Given the description of an element on the screen output the (x, y) to click on. 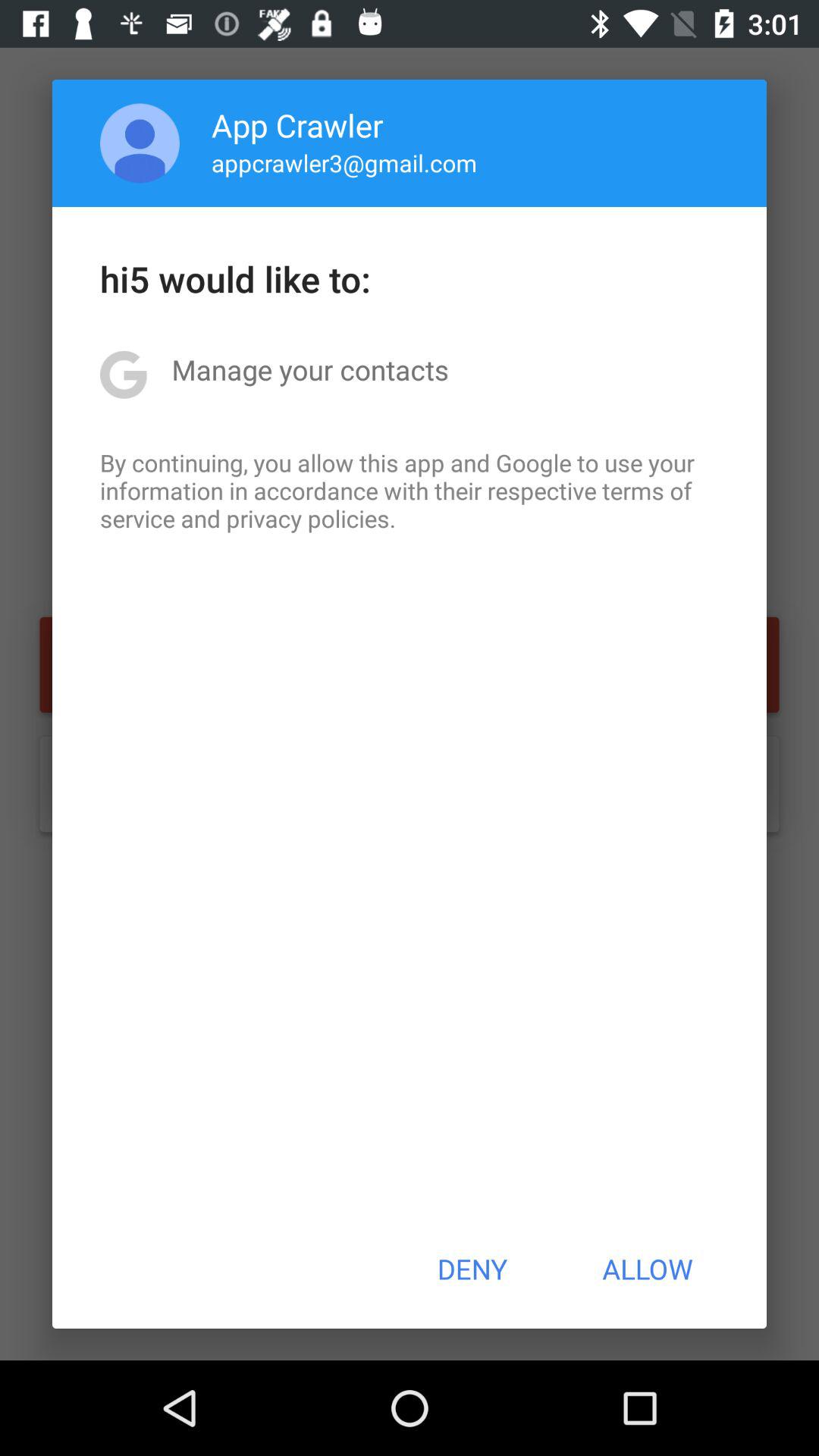
swipe to deny (471, 1268)
